Given the description of an element on the screen output the (x, y) to click on. 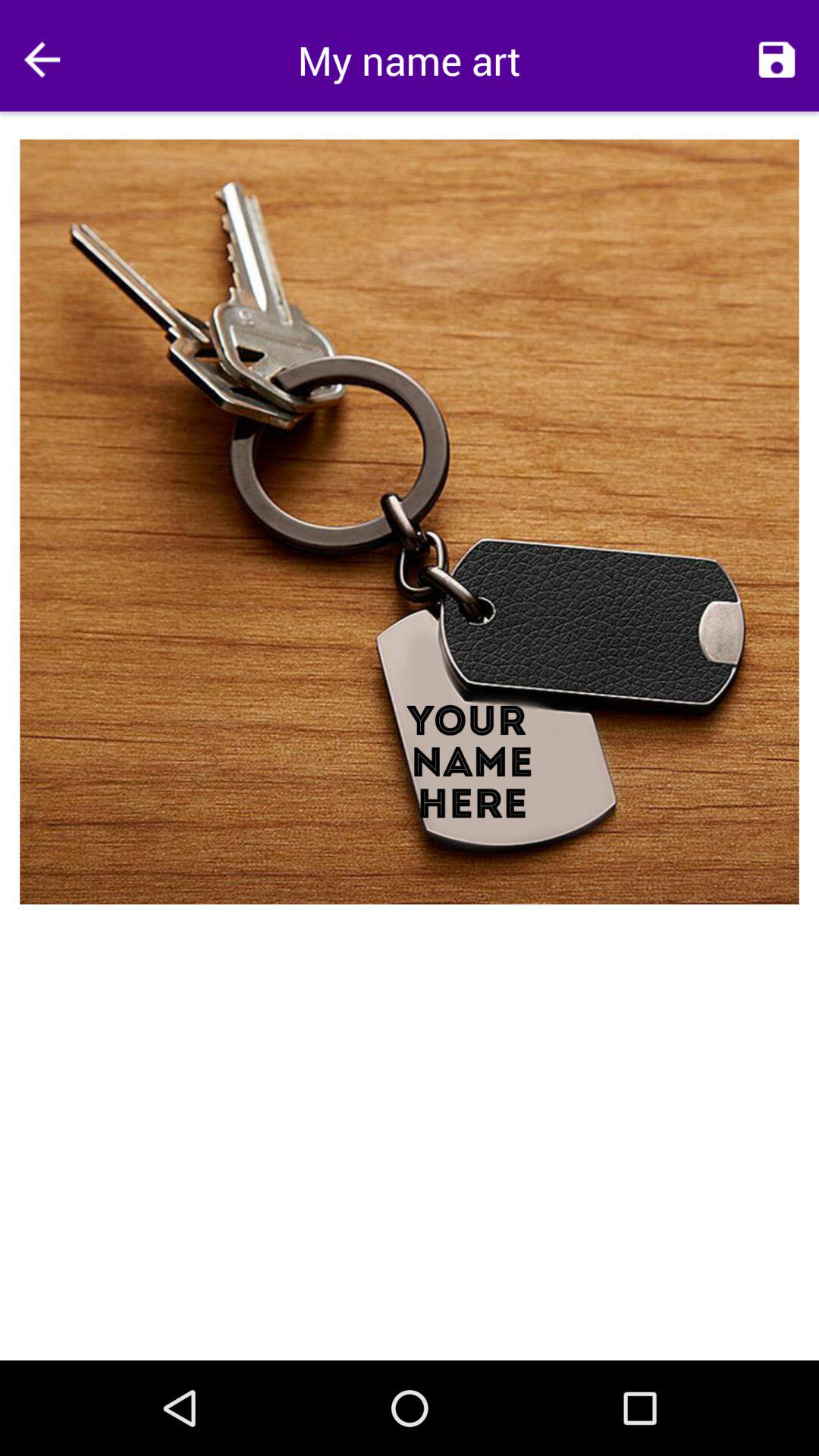
tap app next to the my name art app (776, 59)
